Given the description of an element on the screen output the (x, y) to click on. 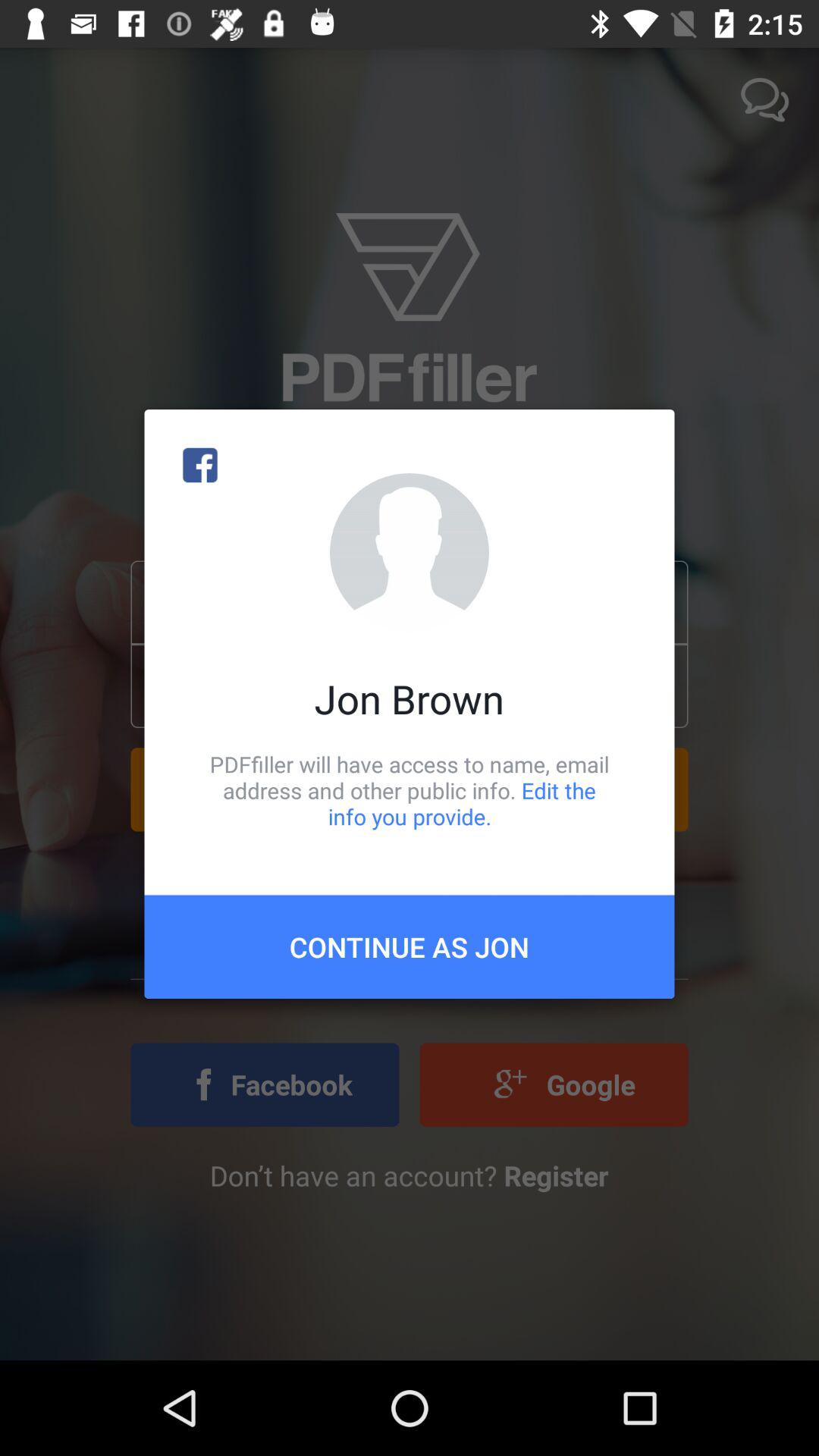
swipe until pdffiller will have item (409, 790)
